Given the description of an element on the screen output the (x, y) to click on. 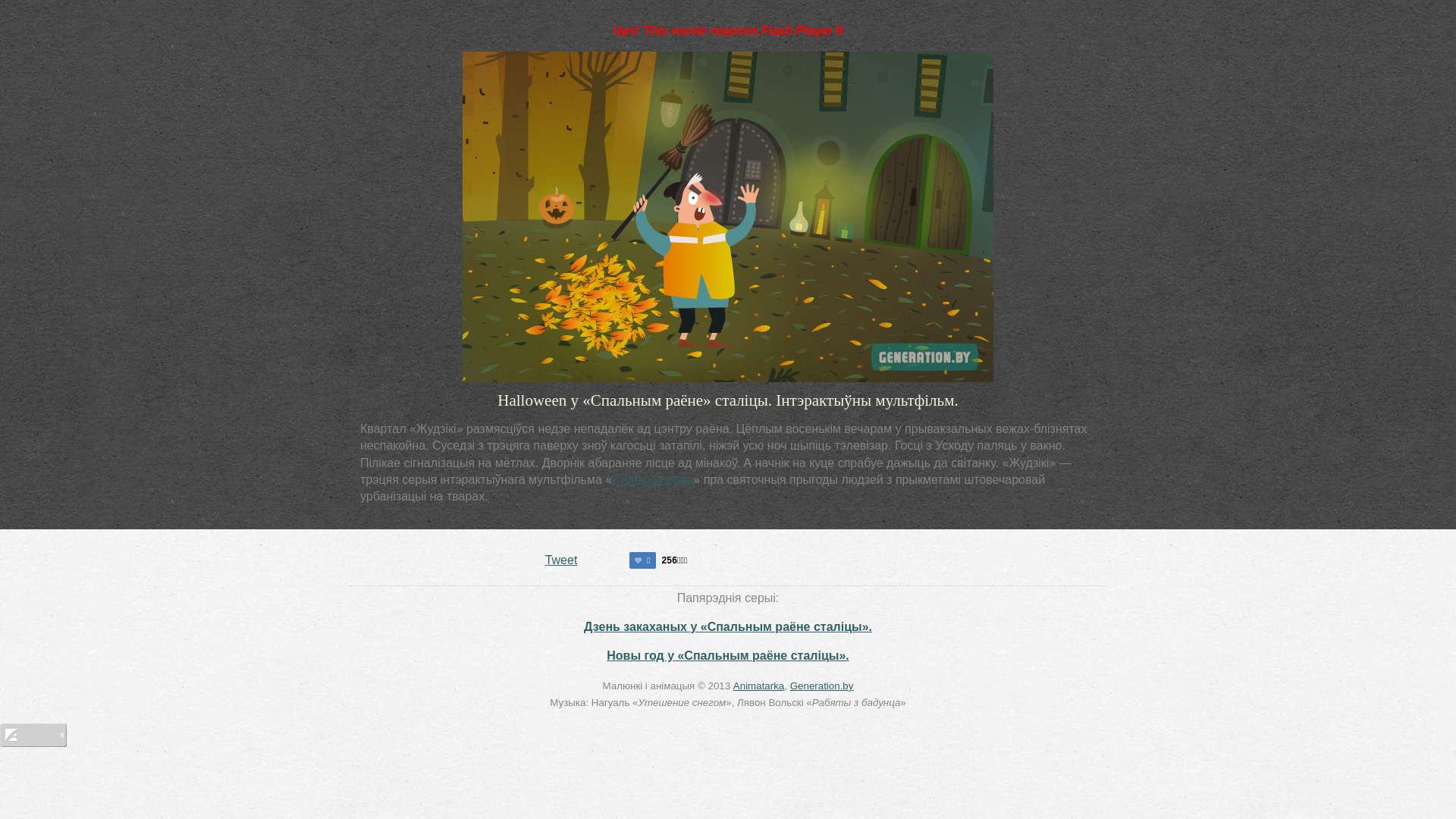
Generation.by Element type: text (821, 685)
This movie requires Flash Player 9 Element type: hover (727, 216)
Tweet Element type: text (561, 559)
Animatarka Element type: text (758, 685)
